Given the description of an element on the screen output the (x, y) to click on. 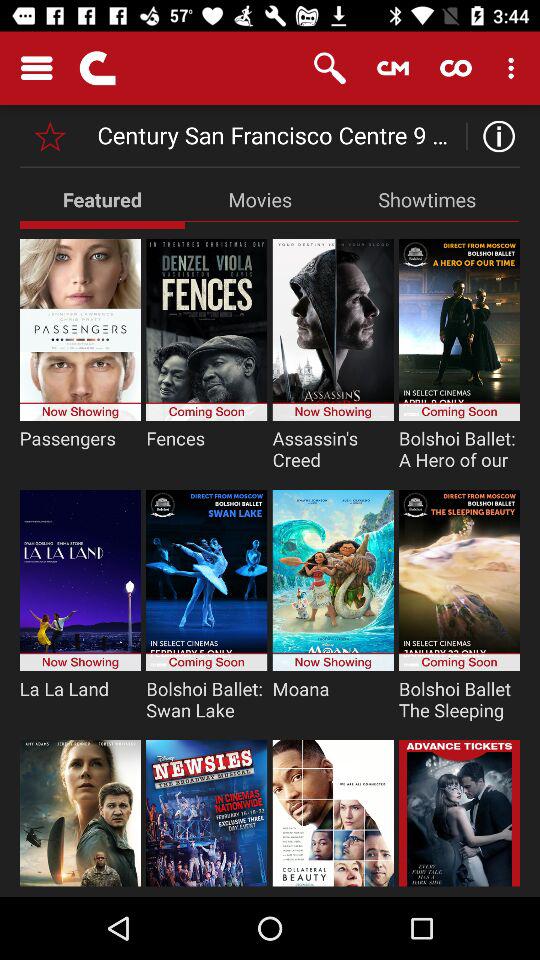
open the item above century san francisco (329, 67)
